Given the description of an element on the screen output the (x, y) to click on. 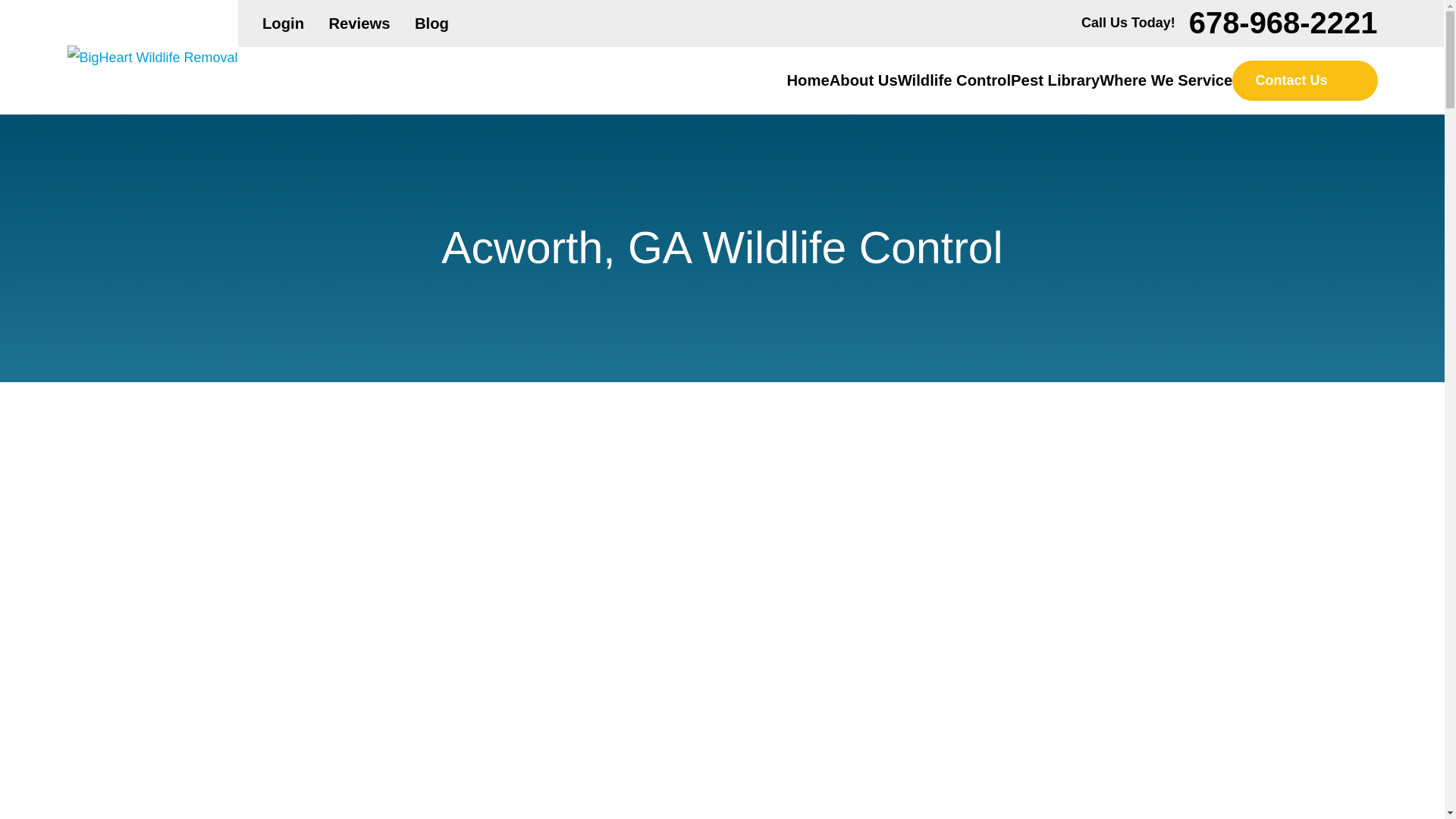
Where We Service (1165, 80)
Home (151, 57)
About Us (863, 80)
678-968-2221 (1283, 23)
Wildlife Control (954, 80)
Home (807, 80)
Pest Library (1054, 80)
Login (283, 23)
Blog (431, 23)
Reviews (359, 23)
